Given the description of an element on the screen output the (x, y) to click on. 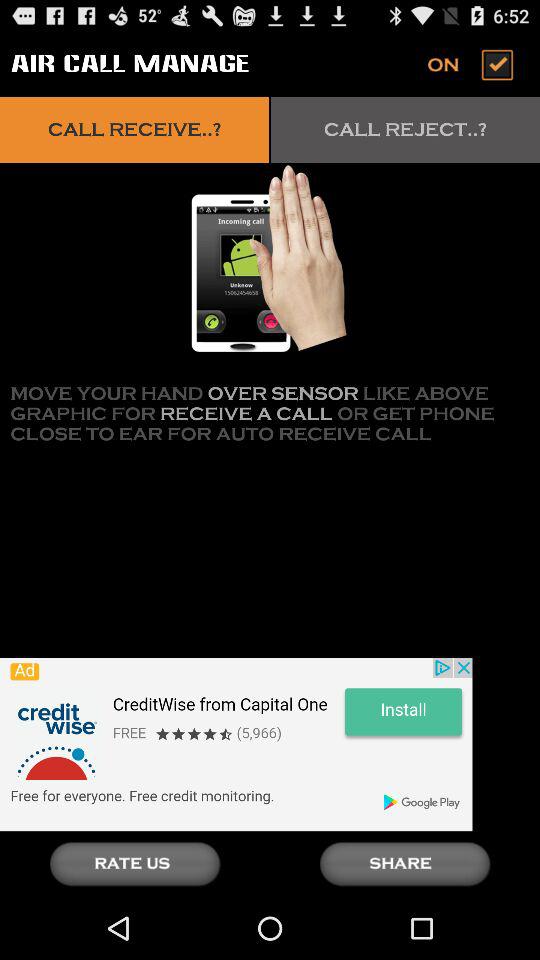
click advertisement (236, 744)
